Given the description of an element on the screen output the (x, y) to click on. 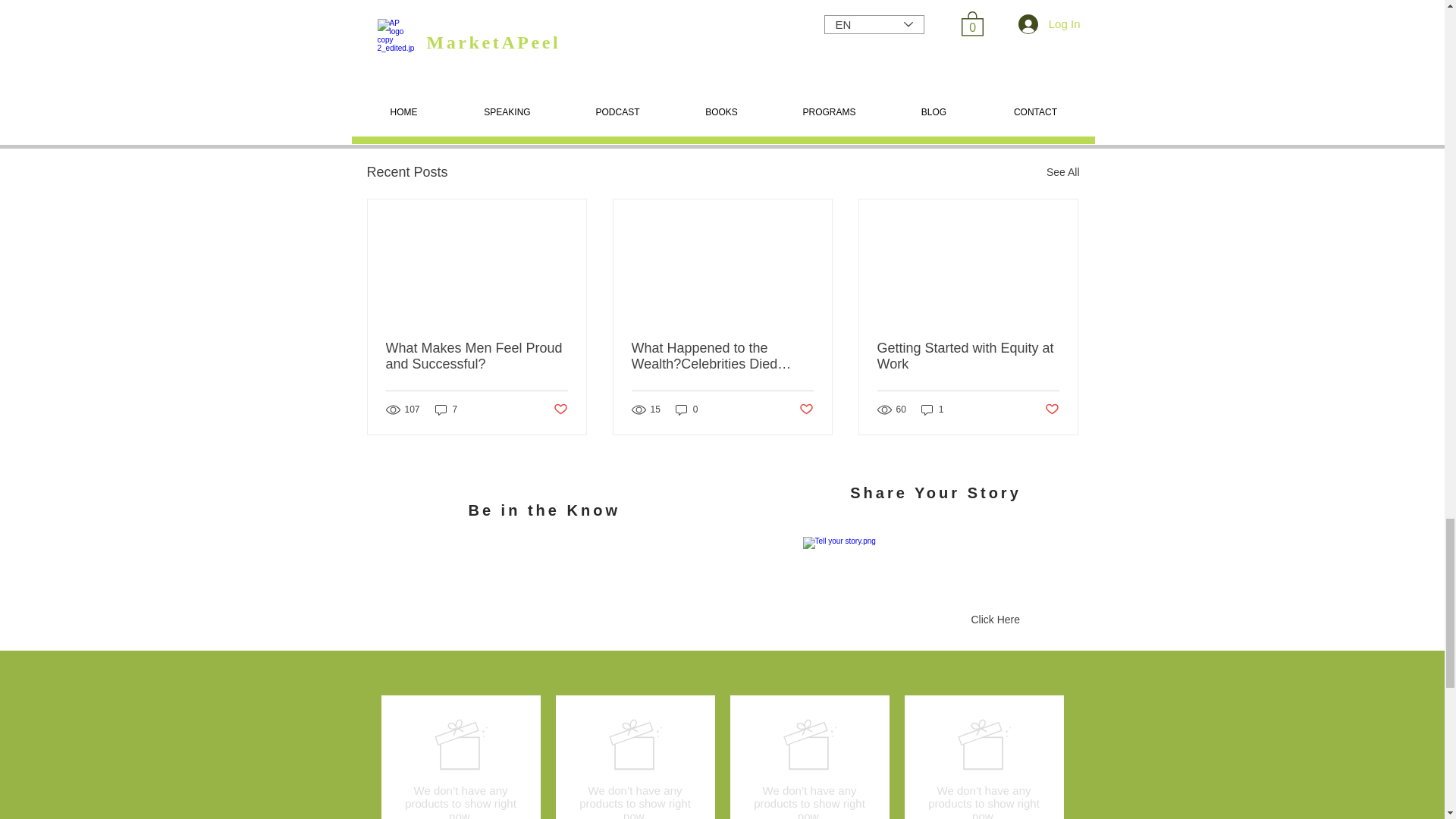
Embedded Content (597, 586)
